Given the description of an element on the screen output the (x, y) to click on. 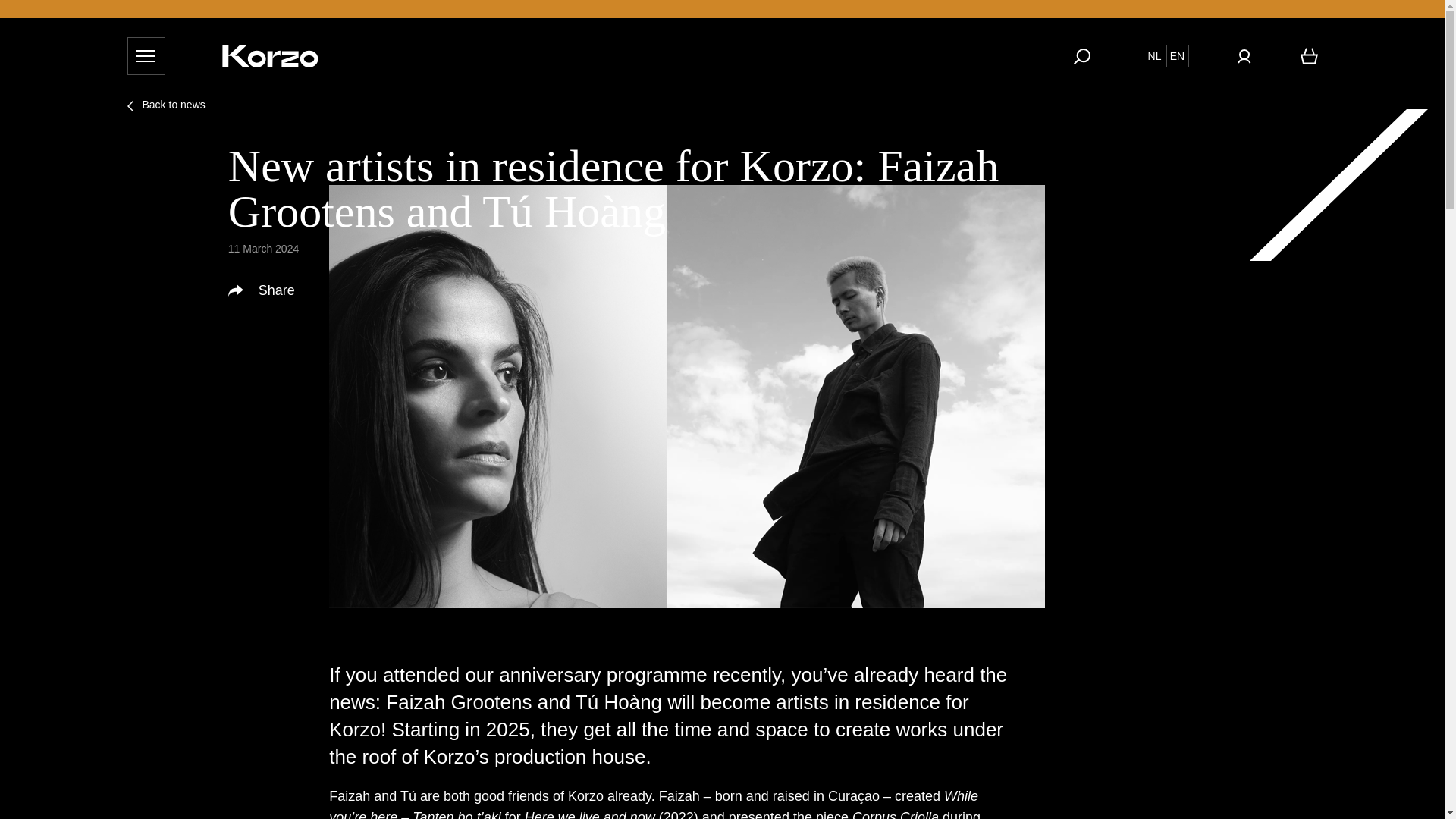
Back to news (166, 105)
Share (263, 291)
NL (1154, 56)
